Given the description of an element on the screen output the (x, y) to click on. 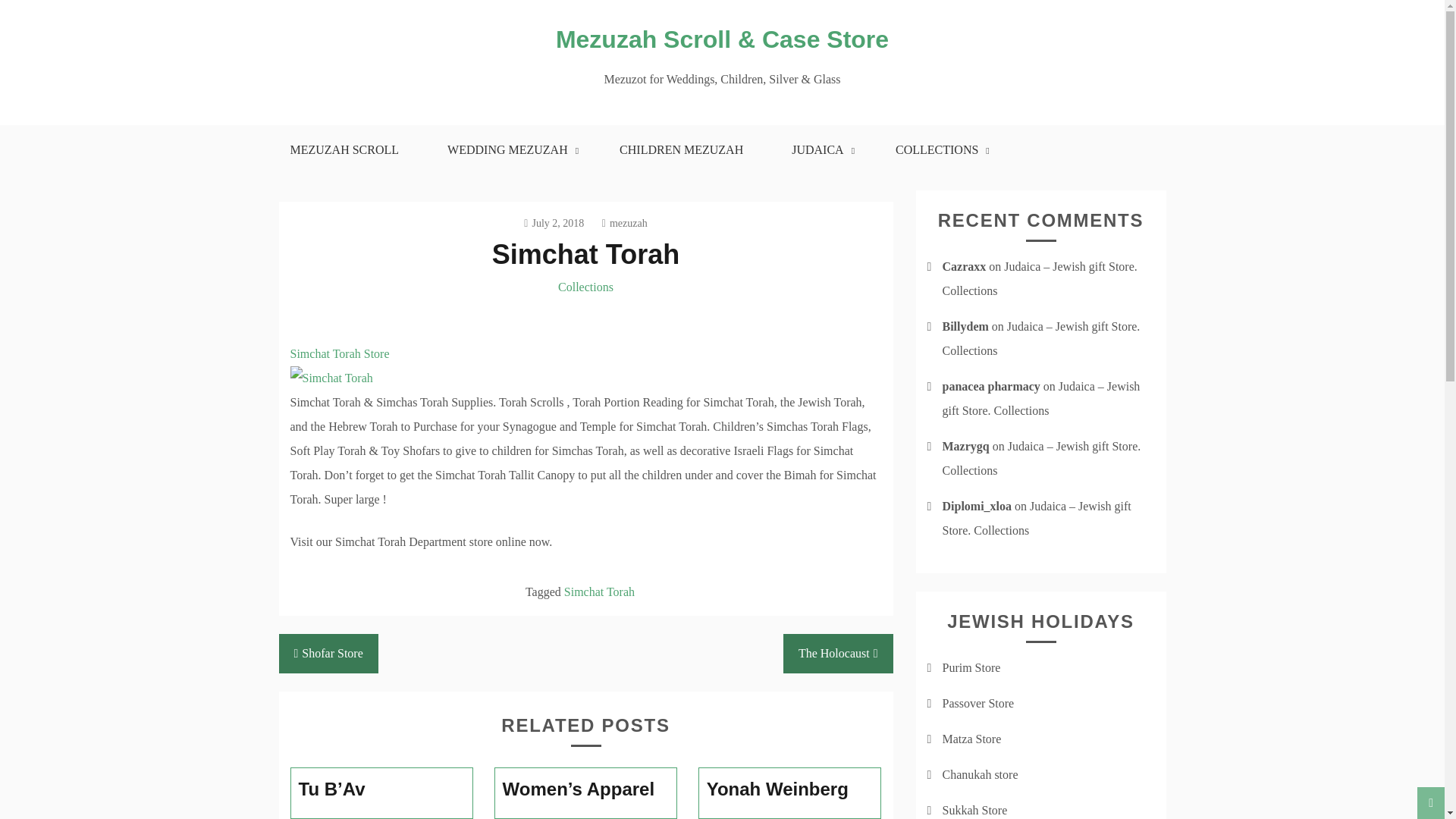
MEZUZAH SCROLL (344, 150)
Simchat Torah Store (338, 377)
Children Mezuzah for sale (680, 150)
Passover Store (977, 703)
COLLECTIONS (938, 150)
The Holocaust (838, 653)
Wedding Mezuzah for Sale (509, 150)
Matza Store (971, 738)
Simchat Torah (599, 591)
JUDAICA (818, 150)
